Given the description of an element on the screen output the (x, y) to click on. 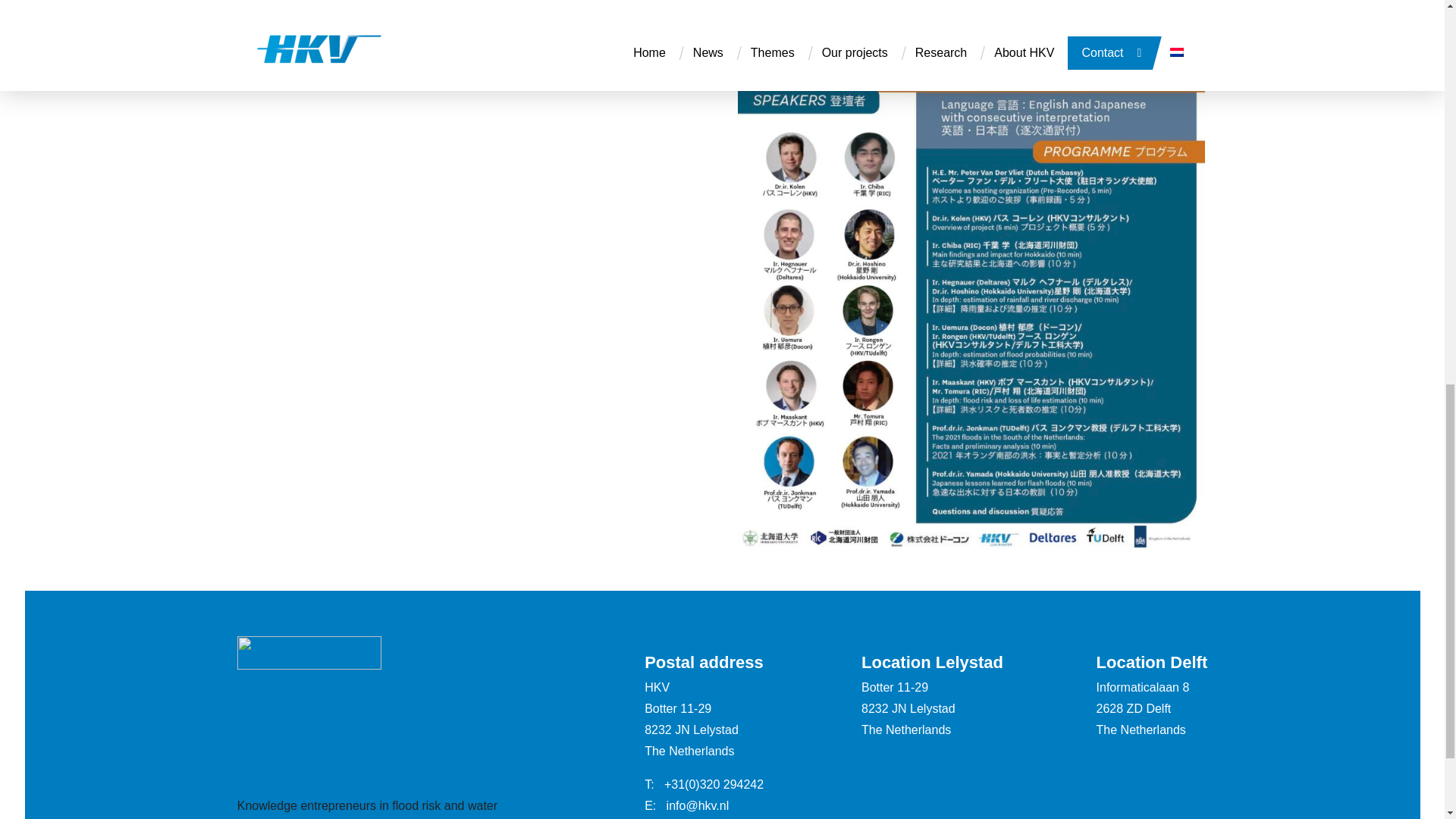
home (309, 665)
